Given the description of an element on the screen output the (x, y) to click on. 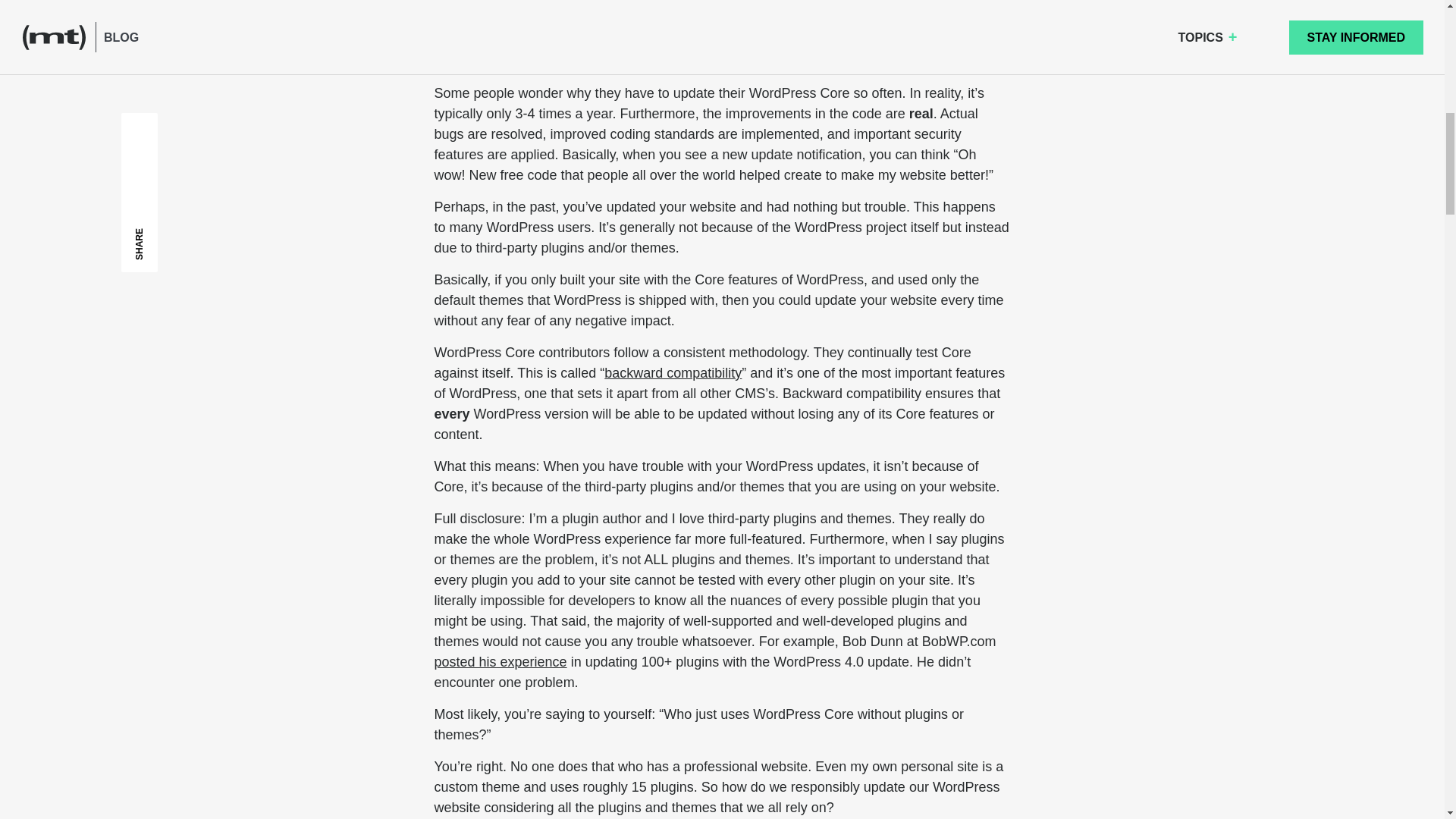
posted his experience (499, 661)
backward compatibility (672, 372)
